Given the description of an element on the screen output the (x, y) to click on. 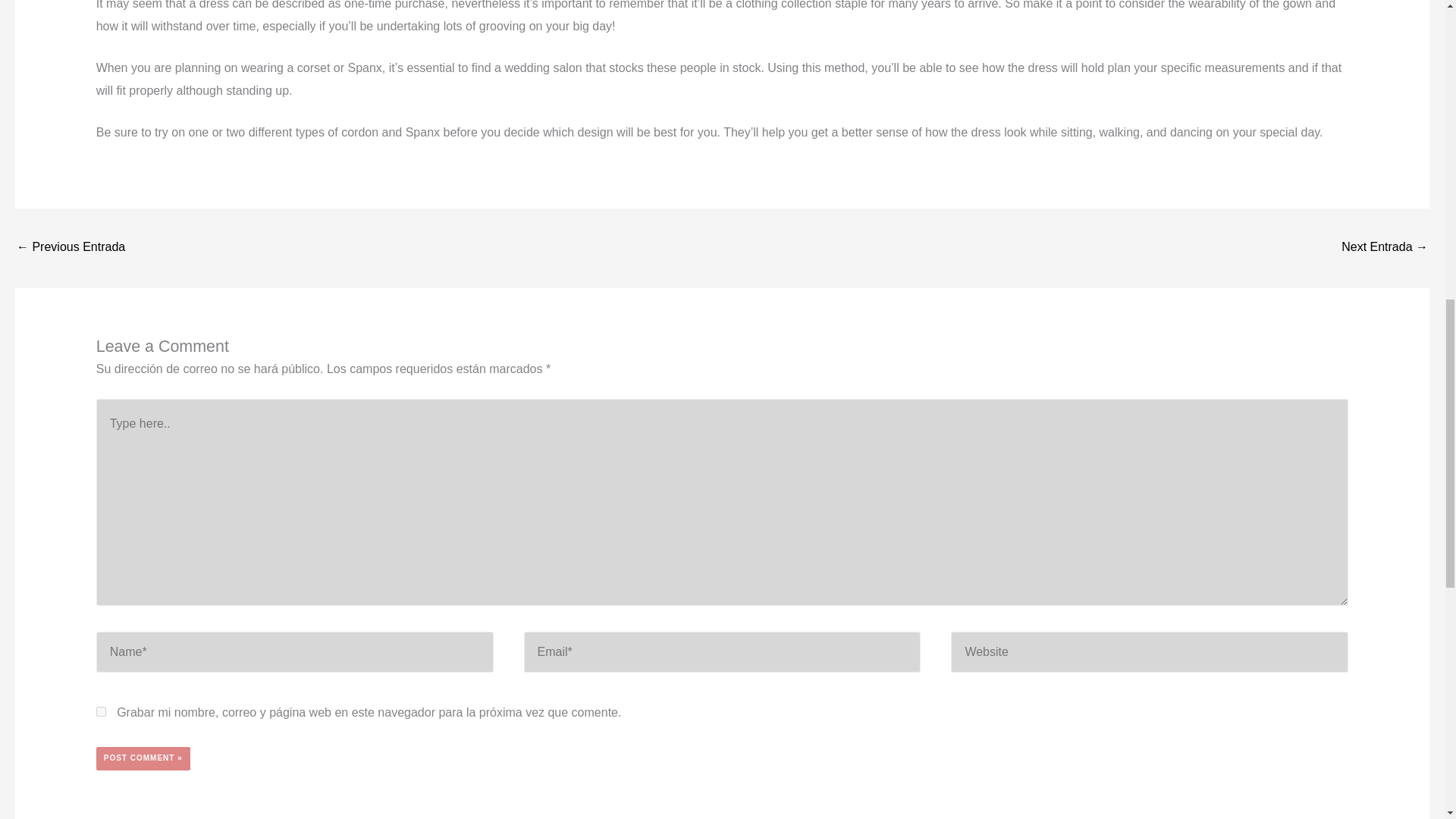
Circunstancias Tu Novia Probablemente No Valor (70, 248)
yes (101, 711)
How you can Select a Mail Order Bride Website (1384, 248)
